Given the description of an element on the screen output the (x, y) to click on. 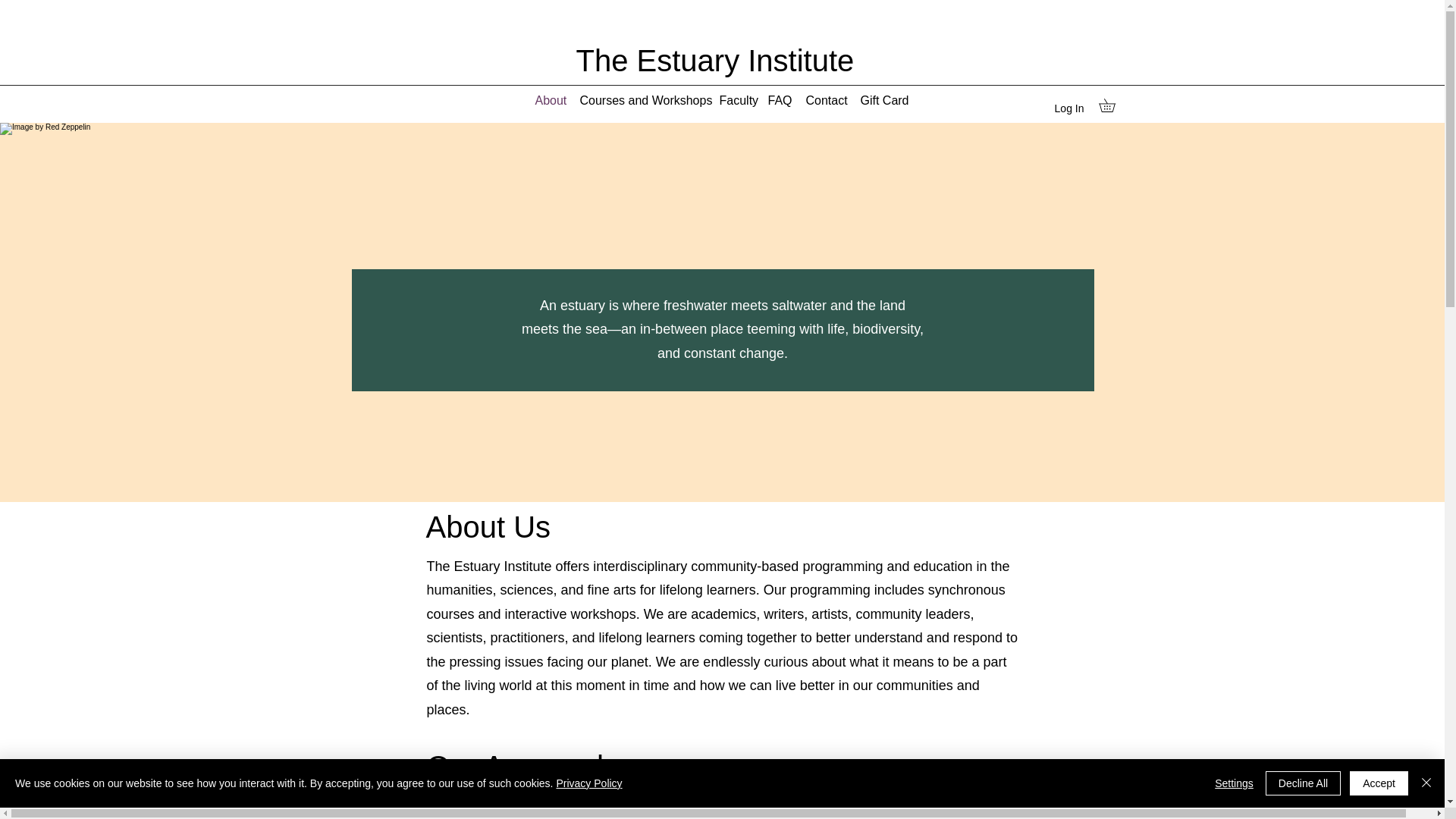
Privacy Policy (588, 783)
Contact (824, 97)
Log In (1068, 108)
Gift Card (883, 97)
Decline All (1302, 783)
About (549, 97)
The Estuary Institute (715, 60)
FAQ (778, 97)
Faculty (735, 97)
Courses and Workshops (641, 97)
